Given the description of an element on the screen output the (x, y) to click on. 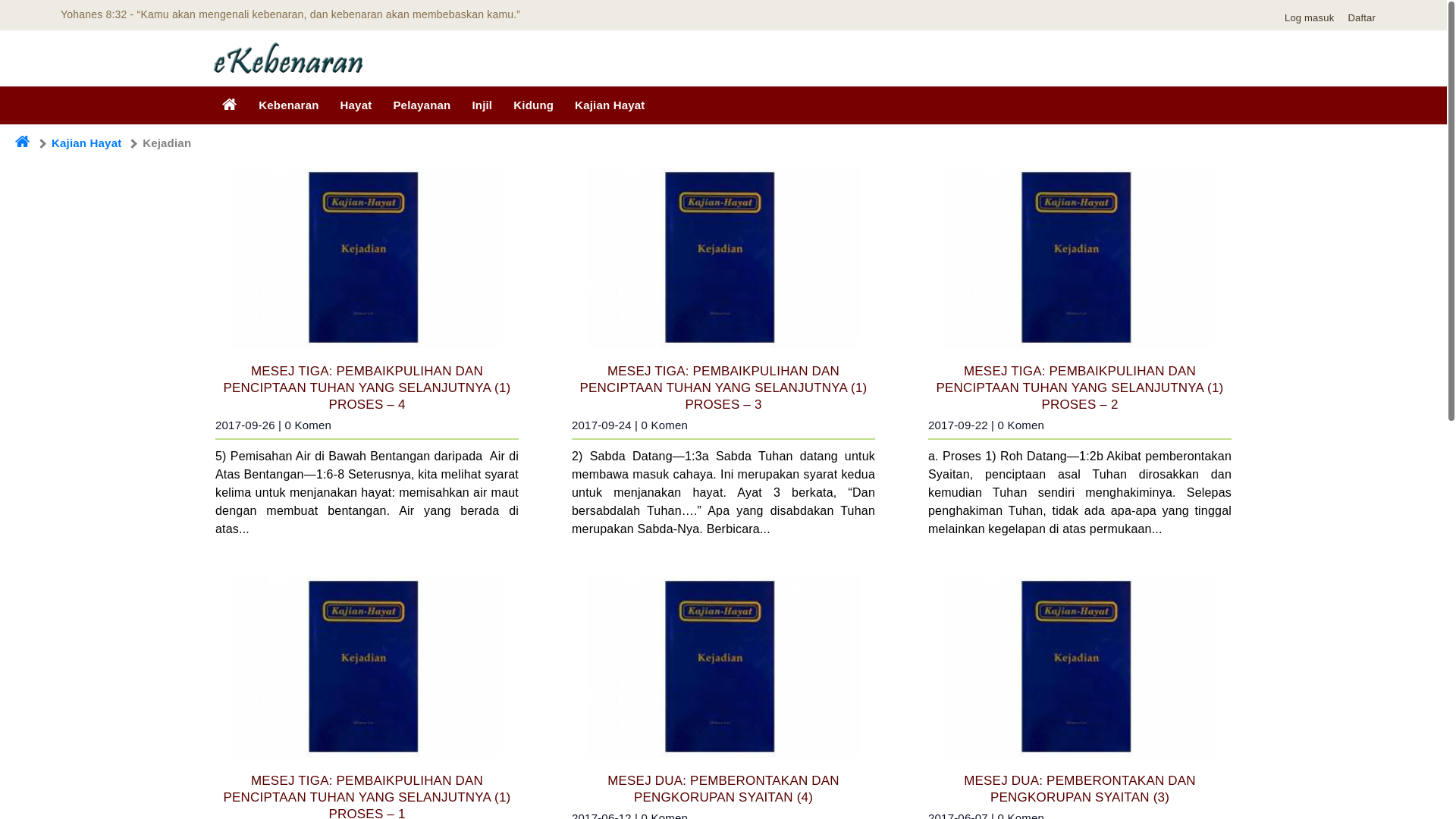
Hayat Element type: text (356, 104)
Kajian Hayat Element type: text (86, 142)
Pelayanan Element type: text (421, 104)
Injil Element type: text (481, 104)
Kajian Hayat Element type: text (609, 104)
Kebenaran Element type: text (288, 104)
Daftar Element type: text (1365, 17)
Kidung Element type: text (533, 104)
Log masuk Element type: text (1312, 17)
